Given the description of an element on the screen output the (x, y) to click on. 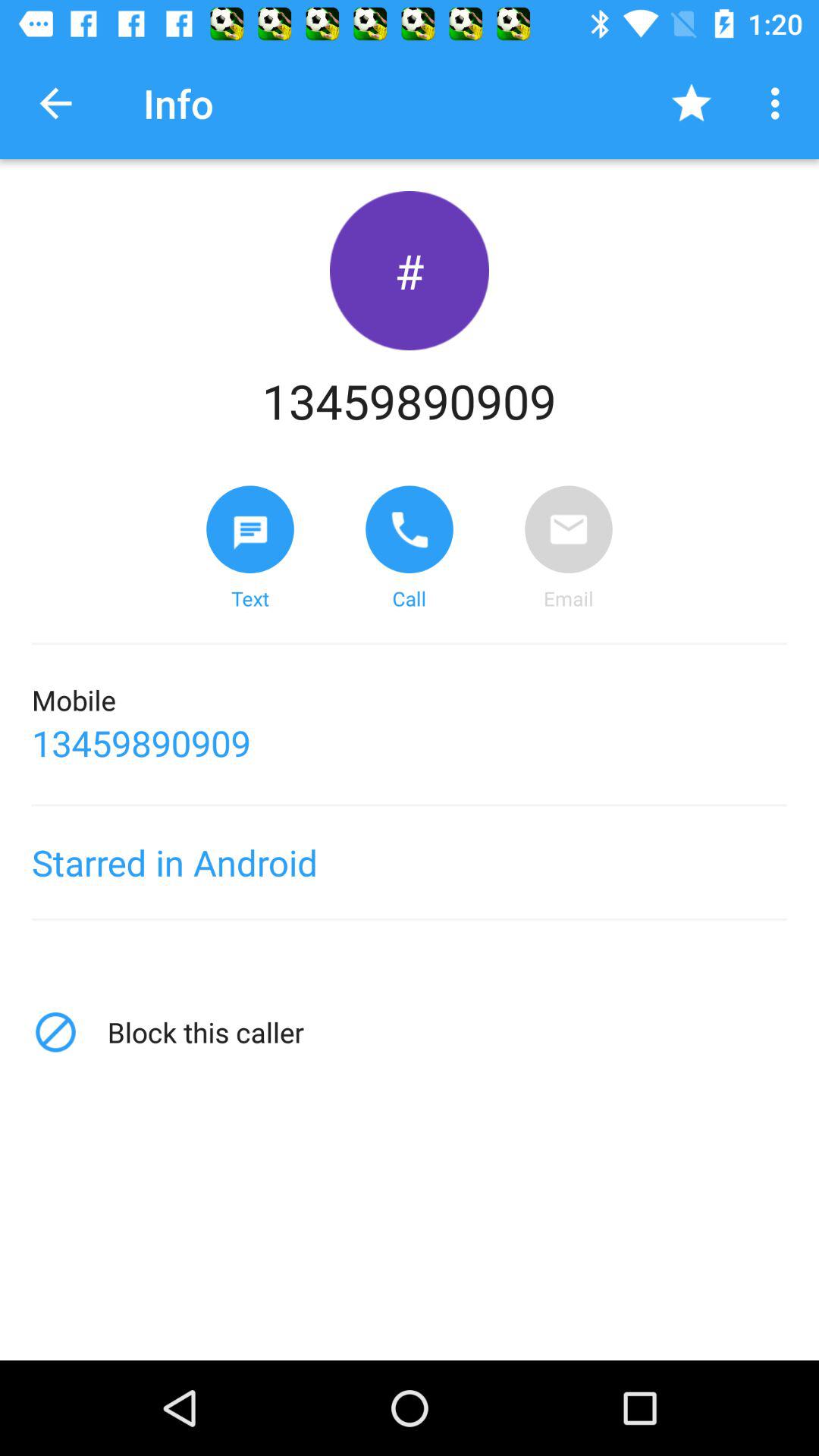
select the icon next to info (55, 103)
